Given the description of an element on the screen output the (x, y) to click on. 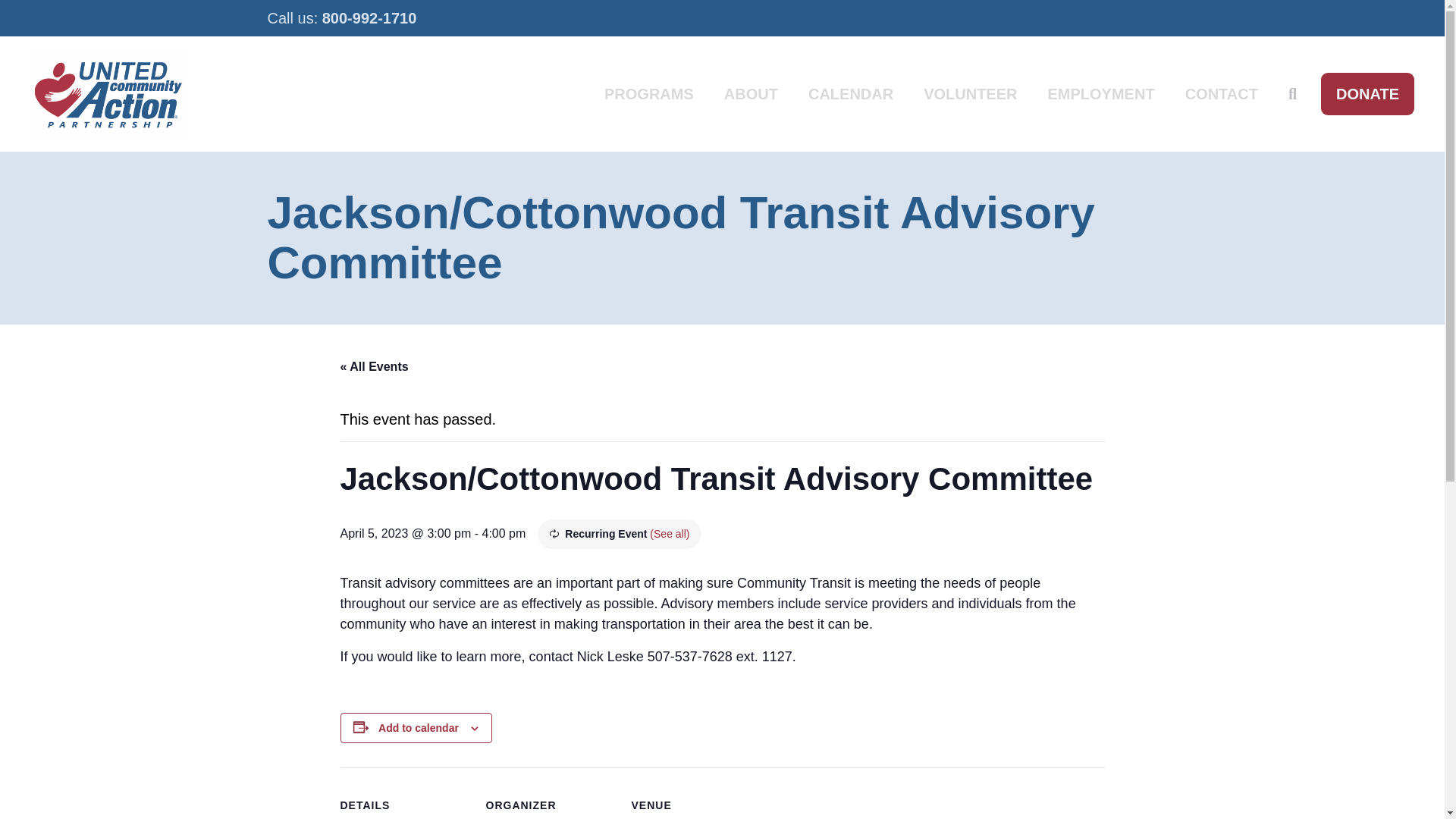
800-992-1710 (368, 17)
EMPLOYMENT (1101, 93)
UCAP (108, 93)
ABOUT (751, 93)
PROGRAMS (649, 93)
CALENDAR (850, 93)
DONATE (1001, 93)
Skip to main content (1366, 93)
